Given the description of an element on the screen output the (x, y) to click on. 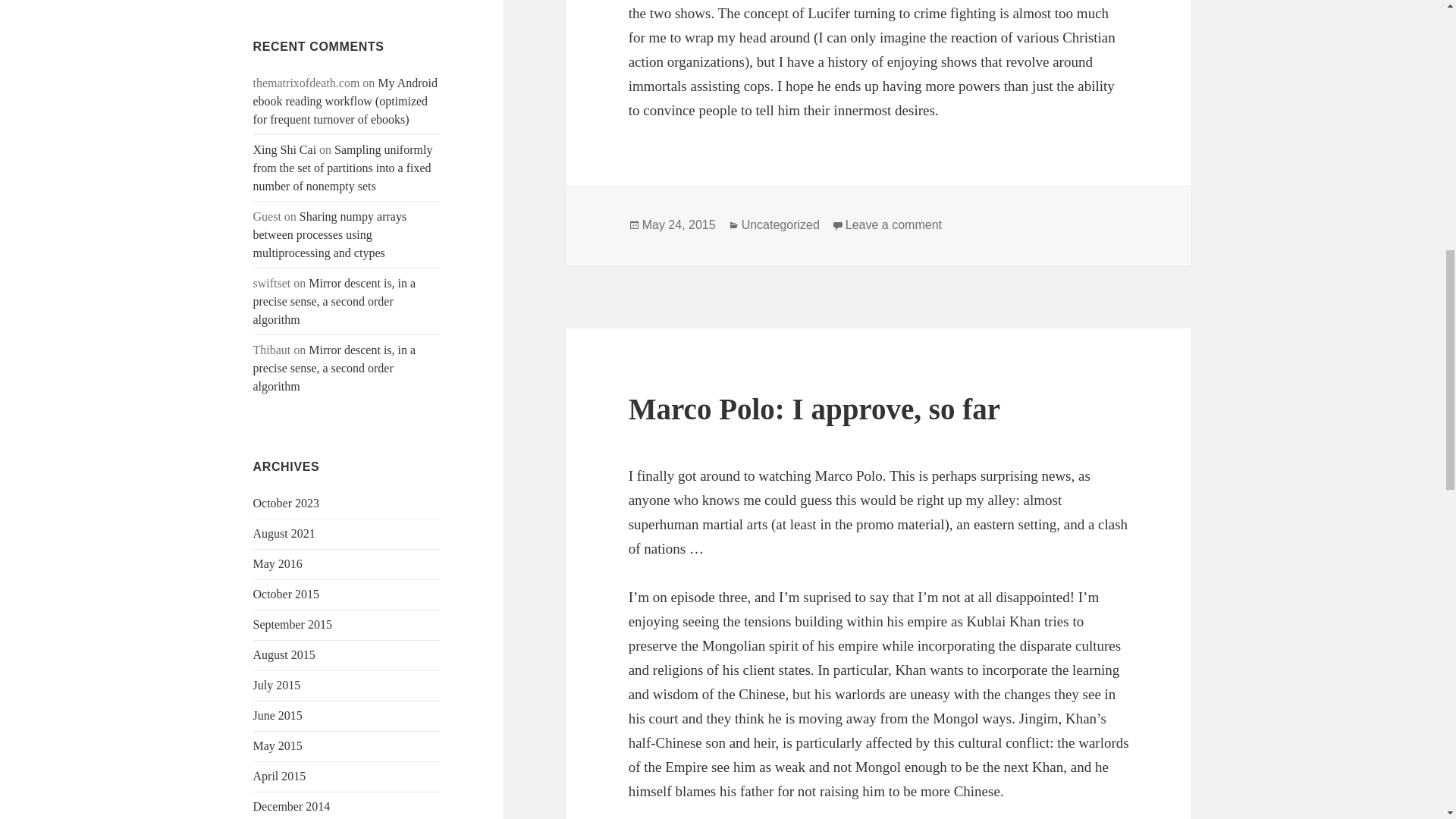
September 2015 (292, 624)
August 2021 (284, 533)
June 2015 (277, 715)
October 2023 (286, 502)
May 2015 (277, 745)
April 2015 (279, 775)
Xing Shi Cai (285, 149)
July 2015 (277, 684)
December 2014 (291, 806)
October 2015 (286, 594)
May 2016 (277, 563)
